Given the description of an element on the screen output the (x, y) to click on. 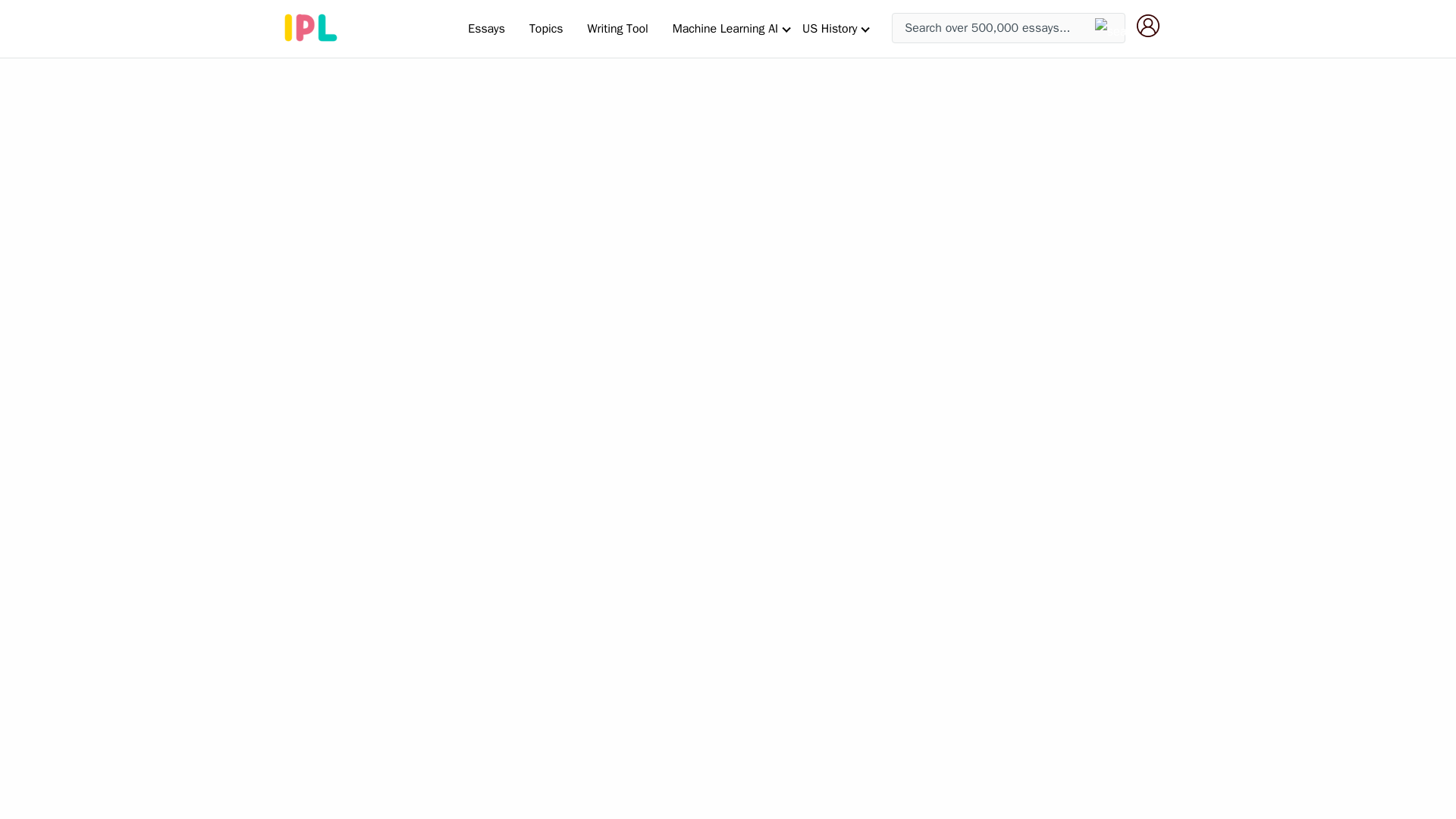
Essays (485, 28)
Topics (545, 28)
Machine Learning AI (725, 28)
US History (829, 28)
Writing Tool (617, 28)
